Given the description of an element on the screen output the (x, y) to click on. 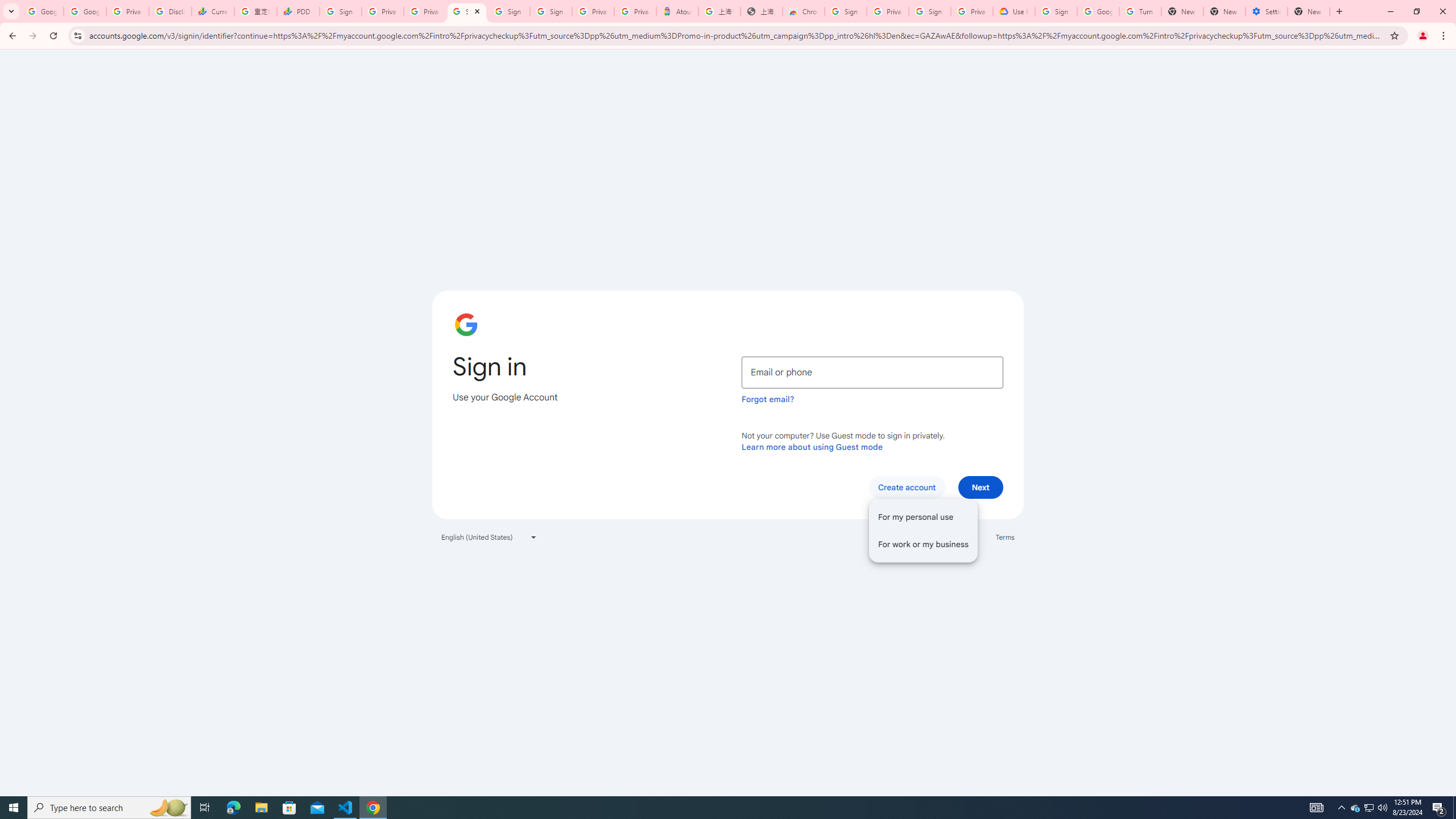
Sign in - Google Accounts (467, 11)
Privacy Checkup (424, 11)
English (United States) (489, 536)
Sign in - Google Accounts (845, 11)
Forgot email? (767, 398)
Sign in - Google Accounts (930, 11)
For my personal use (921, 516)
